Given the description of an element on the screen output the (x, y) to click on. 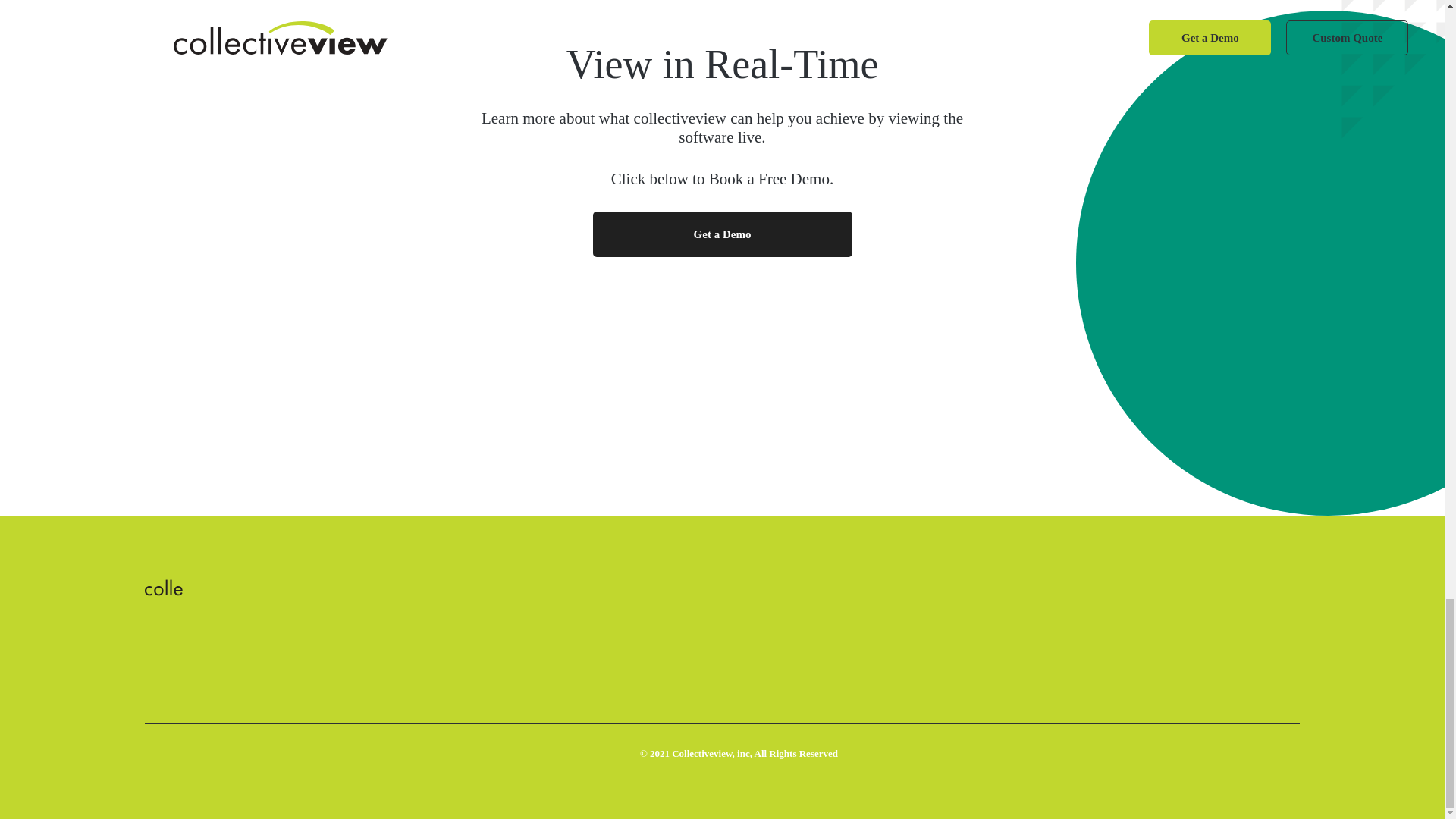
Get a Demo (721, 234)
